Given the description of an element on the screen output the (x, y) to click on. 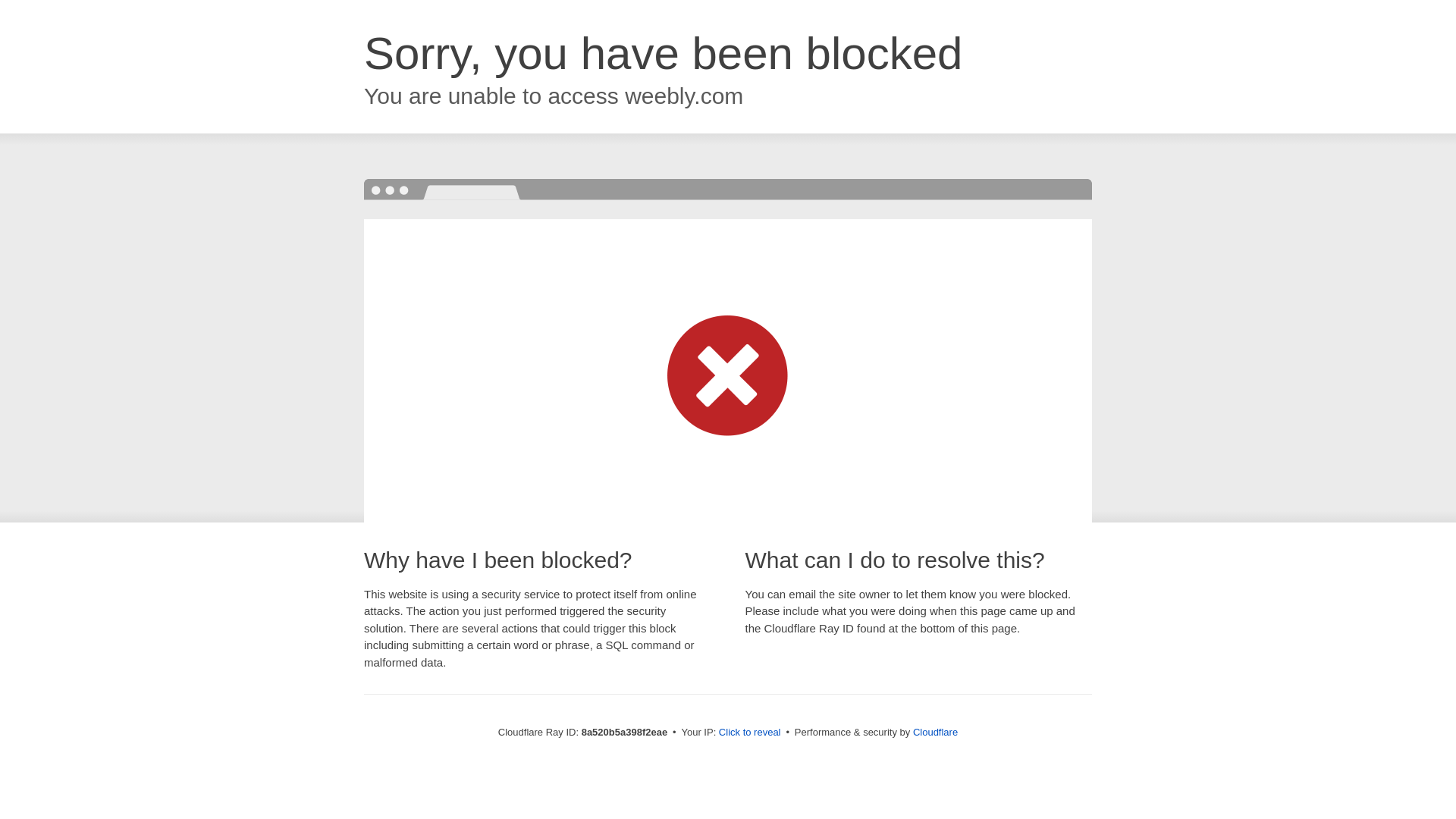
Cloudflare (935, 731)
Click to reveal (749, 732)
